Given the description of an element on the screen output the (x, y) to click on. 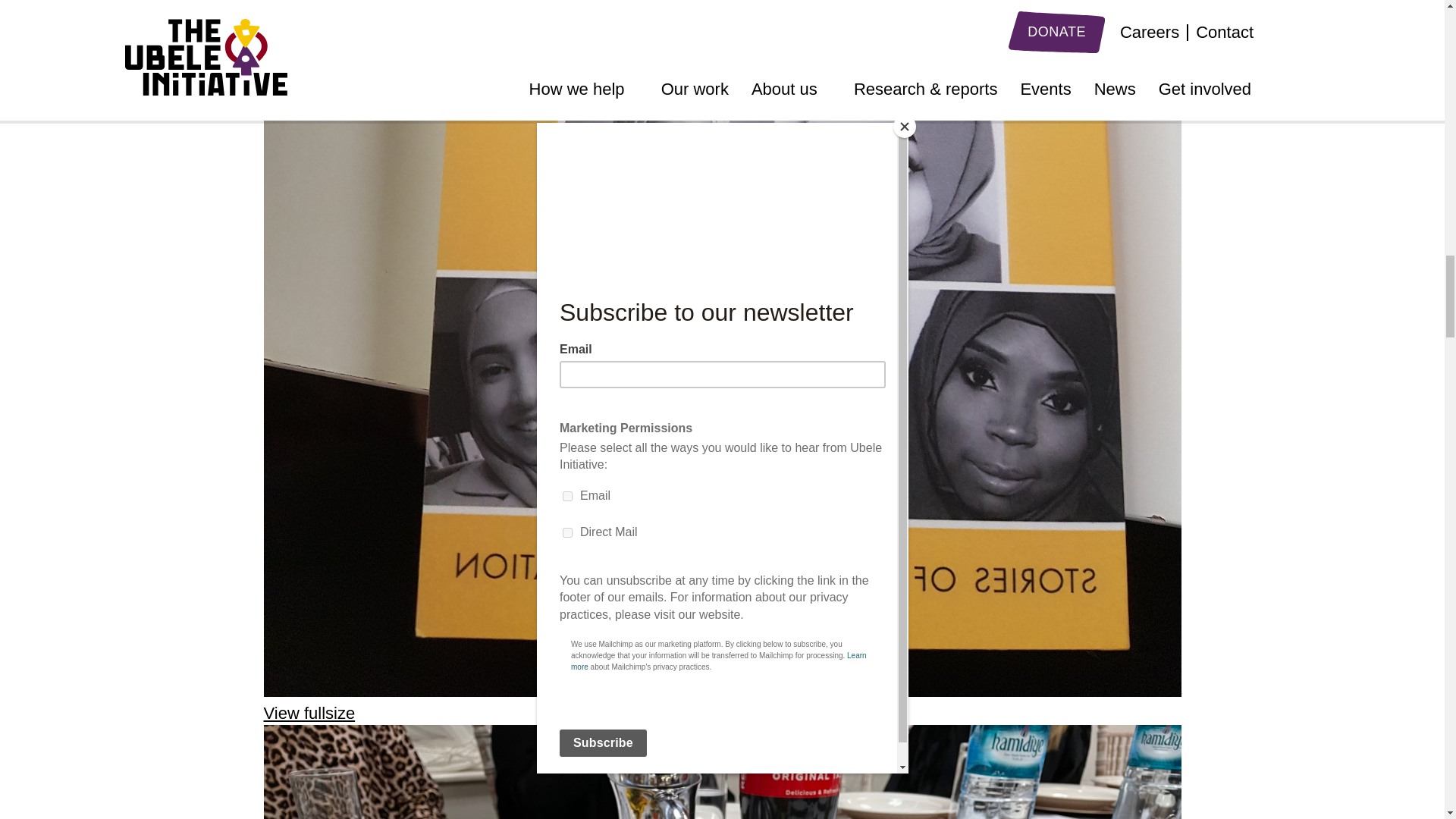
View fullsize (721, 761)
